Given the description of an element on the screen output the (x, y) to click on. 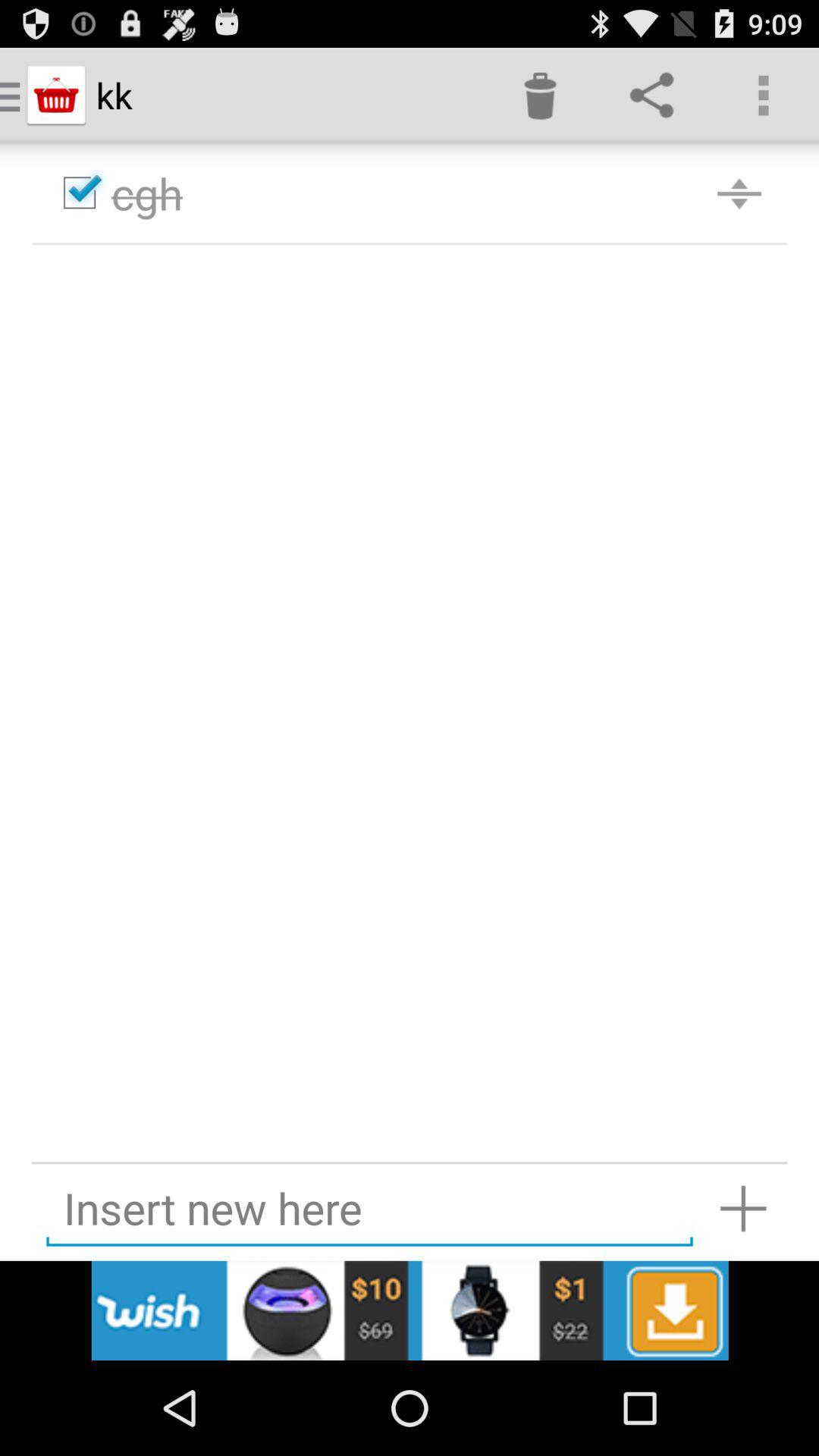
textbox (369, 1208)
